Given the description of an element on the screen output the (x, y) to click on. 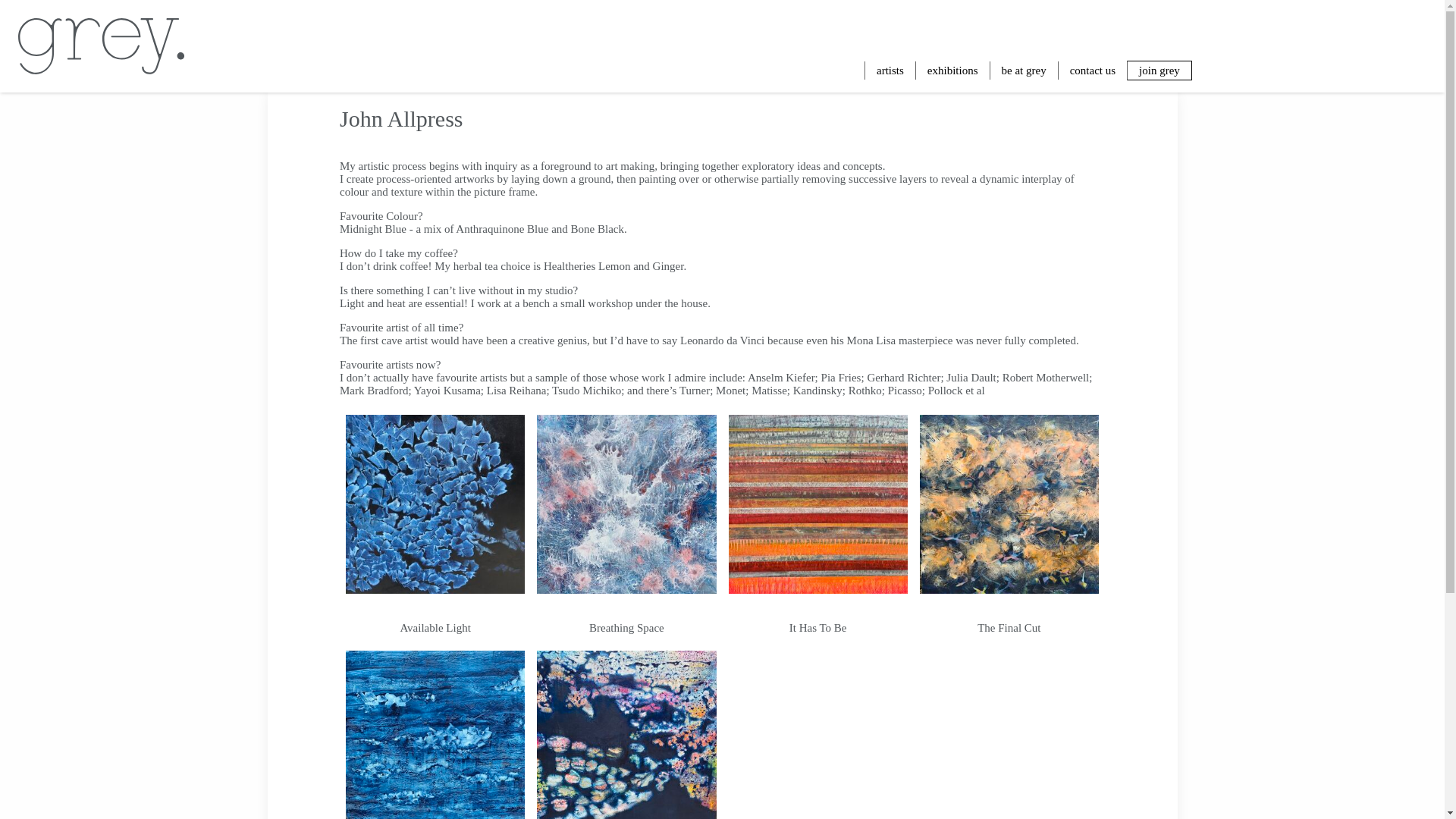
It Has To Be (818, 627)
Available Light (434, 627)
contact us (1092, 70)
The Final Cut (1008, 627)
join grey (1159, 70)
be at grey (1024, 70)
artists (889, 70)
exhibitions (952, 70)
Breathing Space (626, 627)
